Given the description of an element on the screen output the (x, y) to click on. 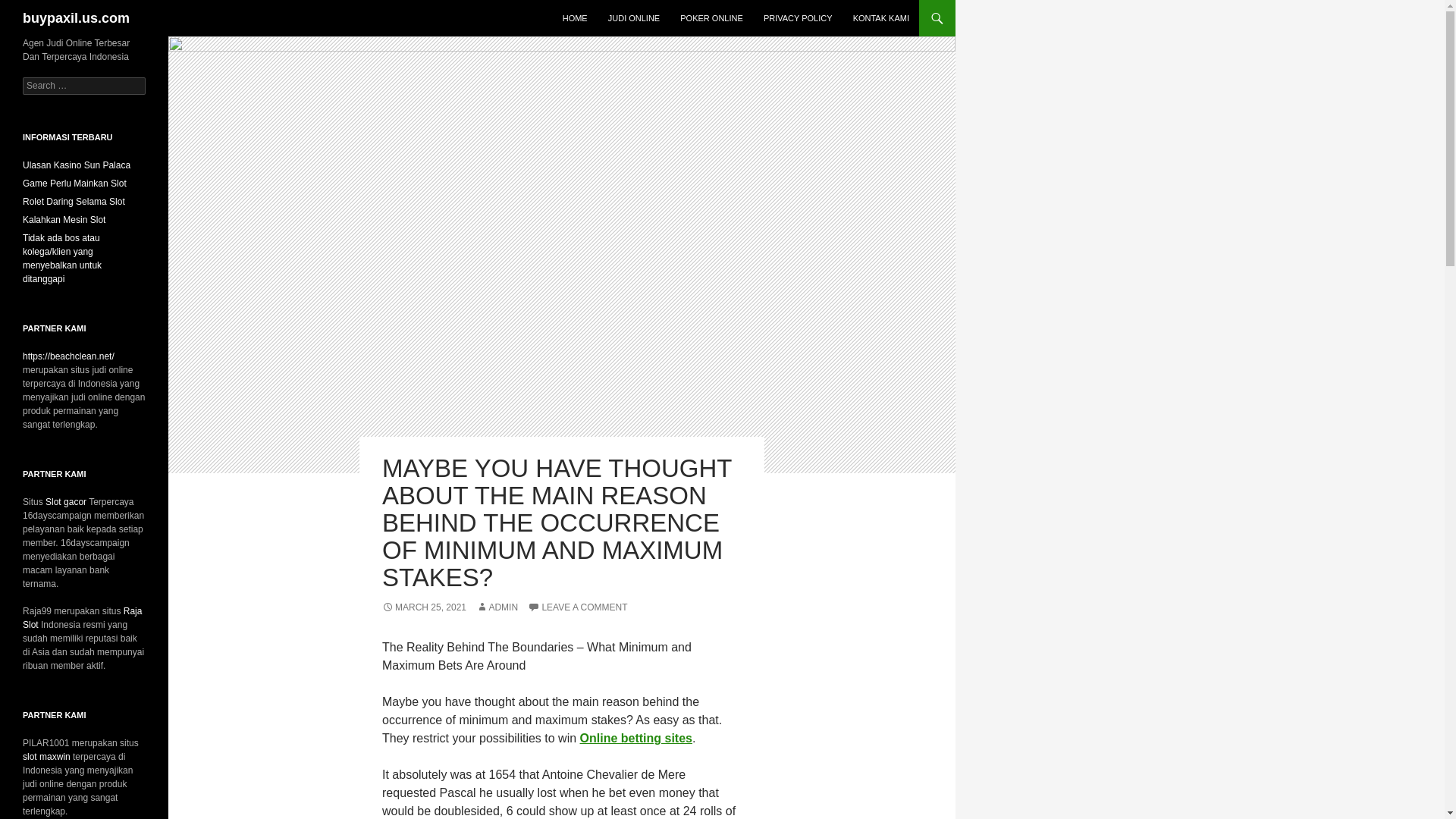
HOME (574, 18)
Search (30, 8)
KONTAK KAMI (881, 18)
Ulasan Kasino Sun Palaca (77, 164)
POKER ONLINE (711, 18)
slot maxwin (46, 756)
Raja Slot (82, 617)
JUDI ONLINE (633, 18)
Rolet Daring Selama Slot (74, 201)
PRIVACY POLICY (797, 18)
Kalahkan Mesin Slot (63, 219)
Slot gacor (65, 501)
Online betting sites (636, 738)
MARCH 25, 2021 (423, 606)
LEAVE A COMMENT (577, 606)
